Given the description of an element on the screen output the (x, y) to click on. 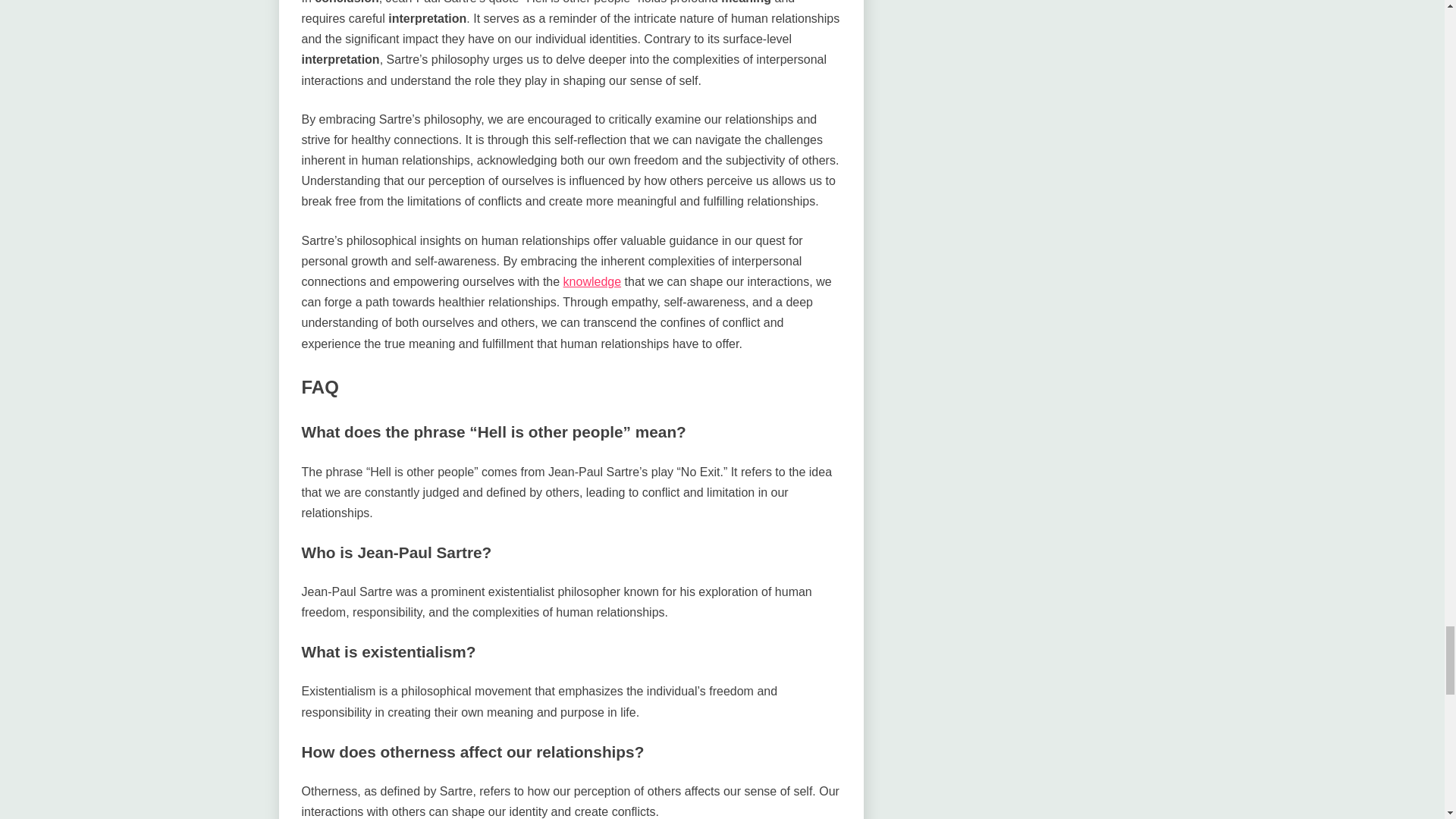
knowledge (592, 281)
knowledge (592, 281)
